Given the description of an element on the screen output the (x, y) to click on. 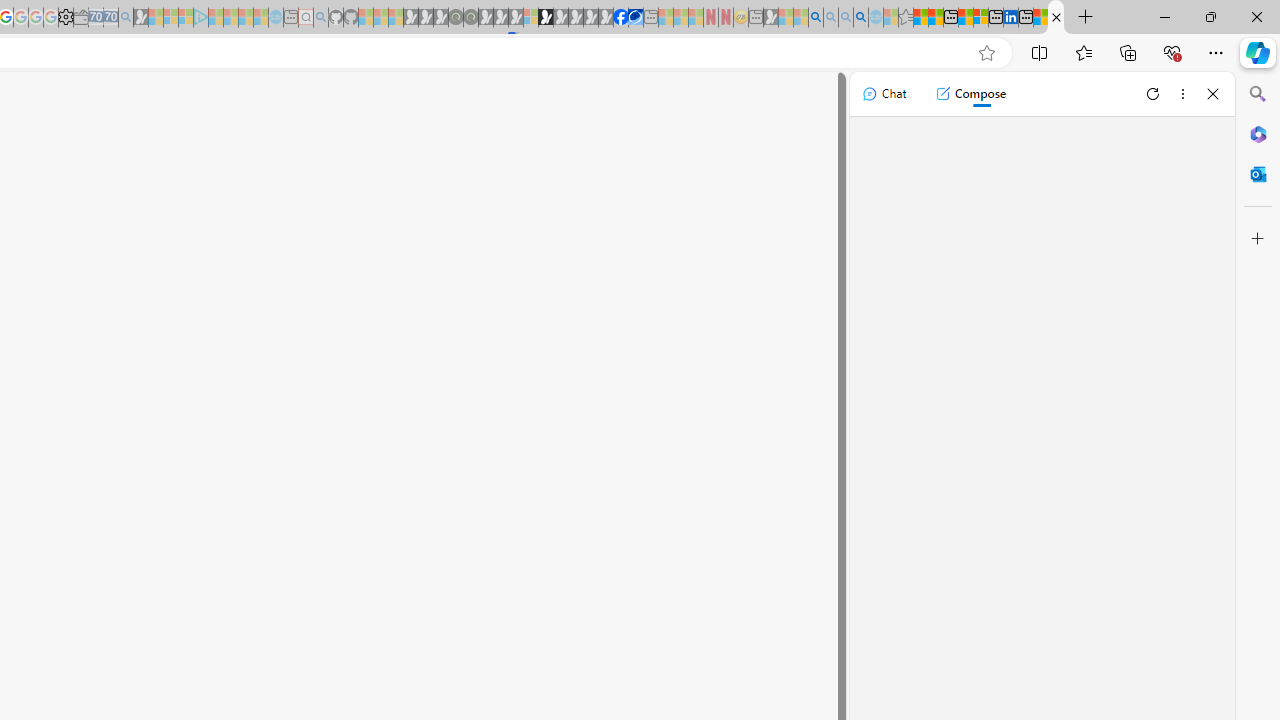
Future Focus Report 2024 - Sleeping (470, 17)
Compose (970, 93)
